Given the description of an element on the screen output the (x, y) to click on. 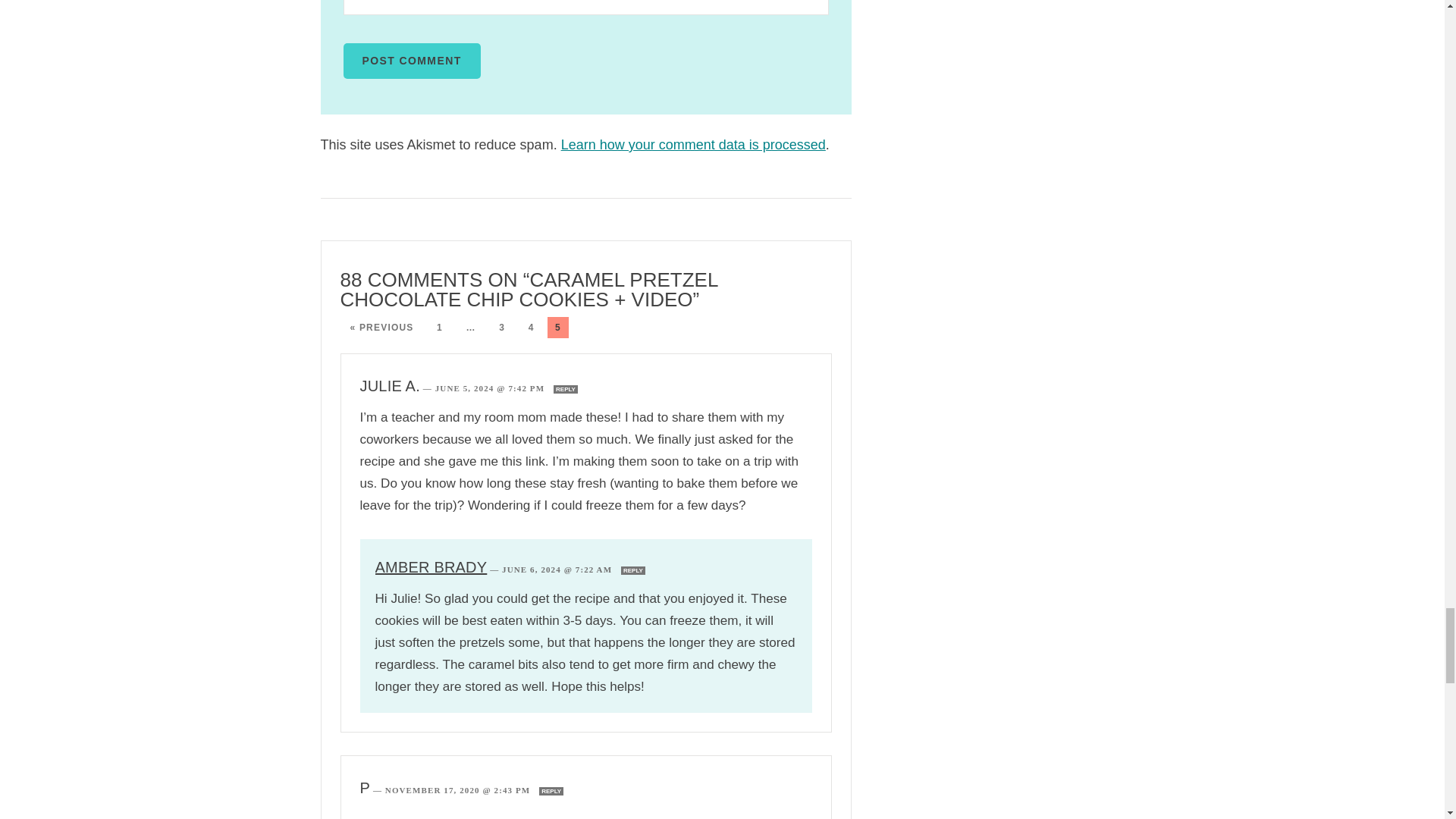
Post Comment (411, 60)
